Given the description of an element on the screen output the (x, y) to click on. 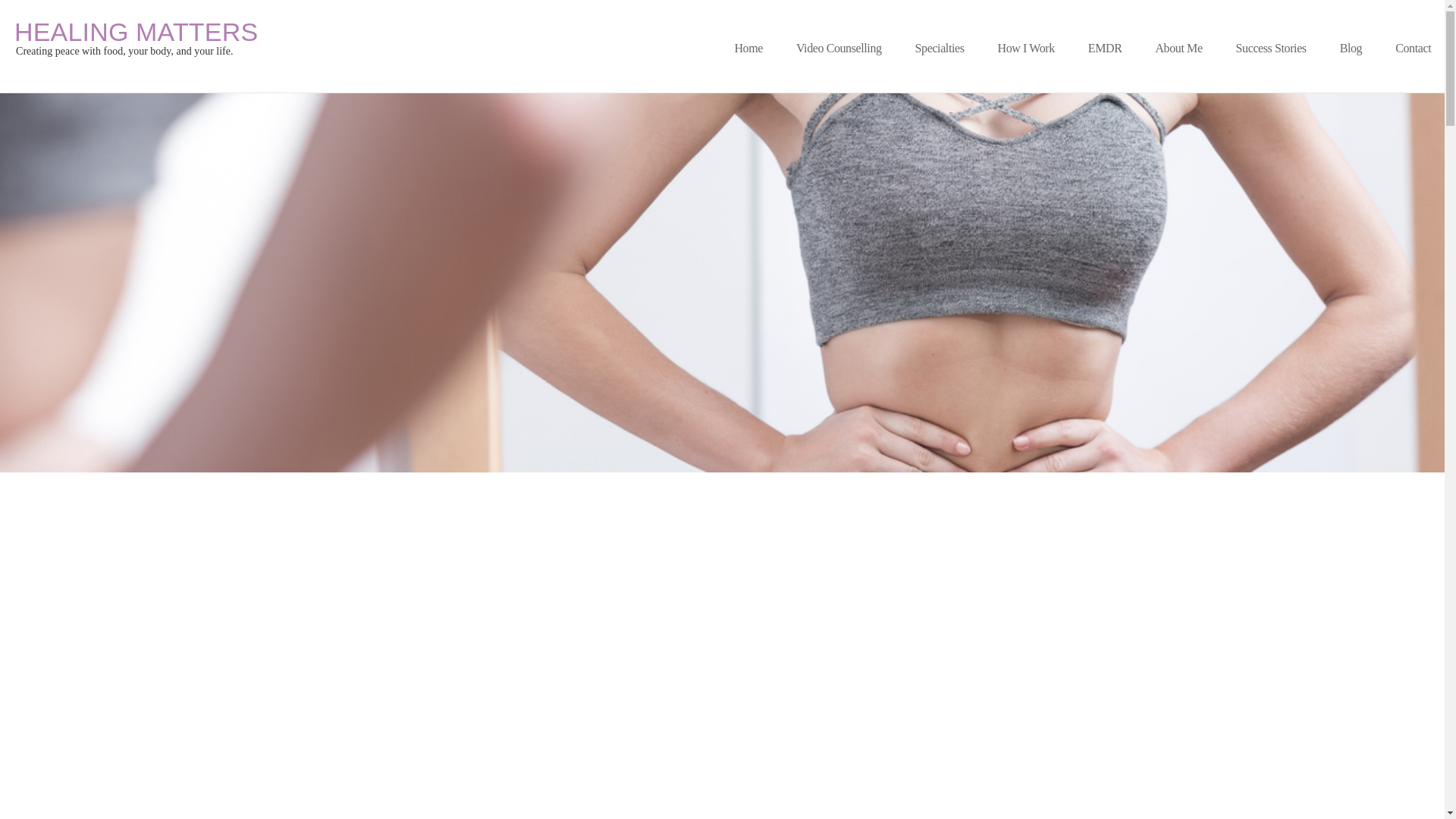
Home (748, 48)
How I Work (1026, 48)
Success Stories (1271, 48)
Contact (1412, 48)
EMDR (1104, 48)
Video Counselling (839, 48)
About Me (1178, 48)
Blog (135, 32)
Specialties (1351, 48)
